Given the description of an element on the screen output the (x, y) to click on. 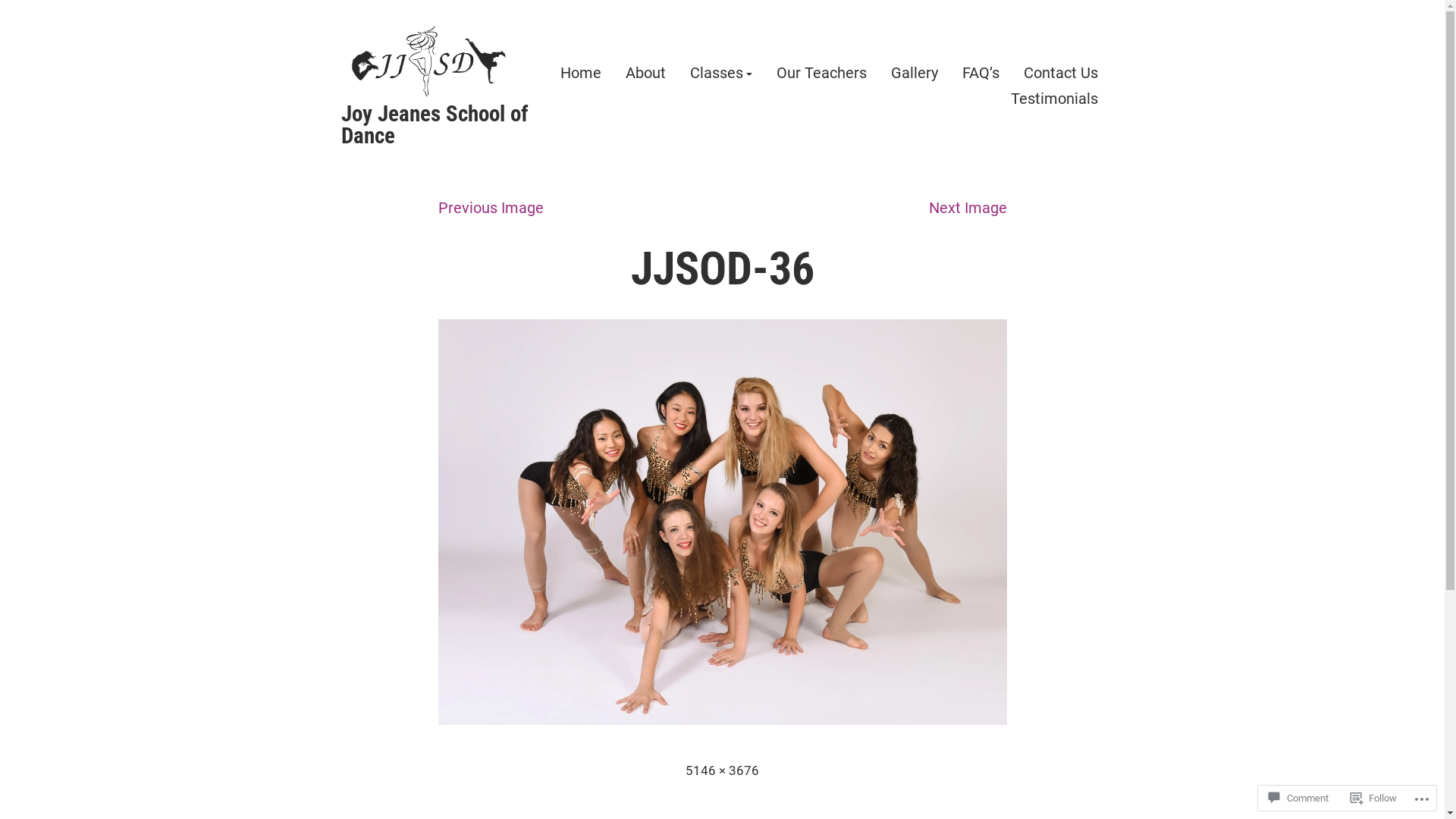
Our Teachers Element type: text (821, 73)
Follow Element type: text (1373, 797)
Joy Jeanes School of Dance Element type: text (434, 124)
Contact Us Element type: text (1060, 73)
Testimonials Element type: text (1053, 97)
About Element type: text (644, 73)
Gallery Element type: text (913, 73)
Home Element type: text (579, 73)
Next Image Element type: text (967, 207)
Comment Element type: text (1298, 797)
Classes Element type: text (721, 73)
Previous Image Element type: text (490, 207)
